Given the description of an element on the screen output the (x, y) to click on. 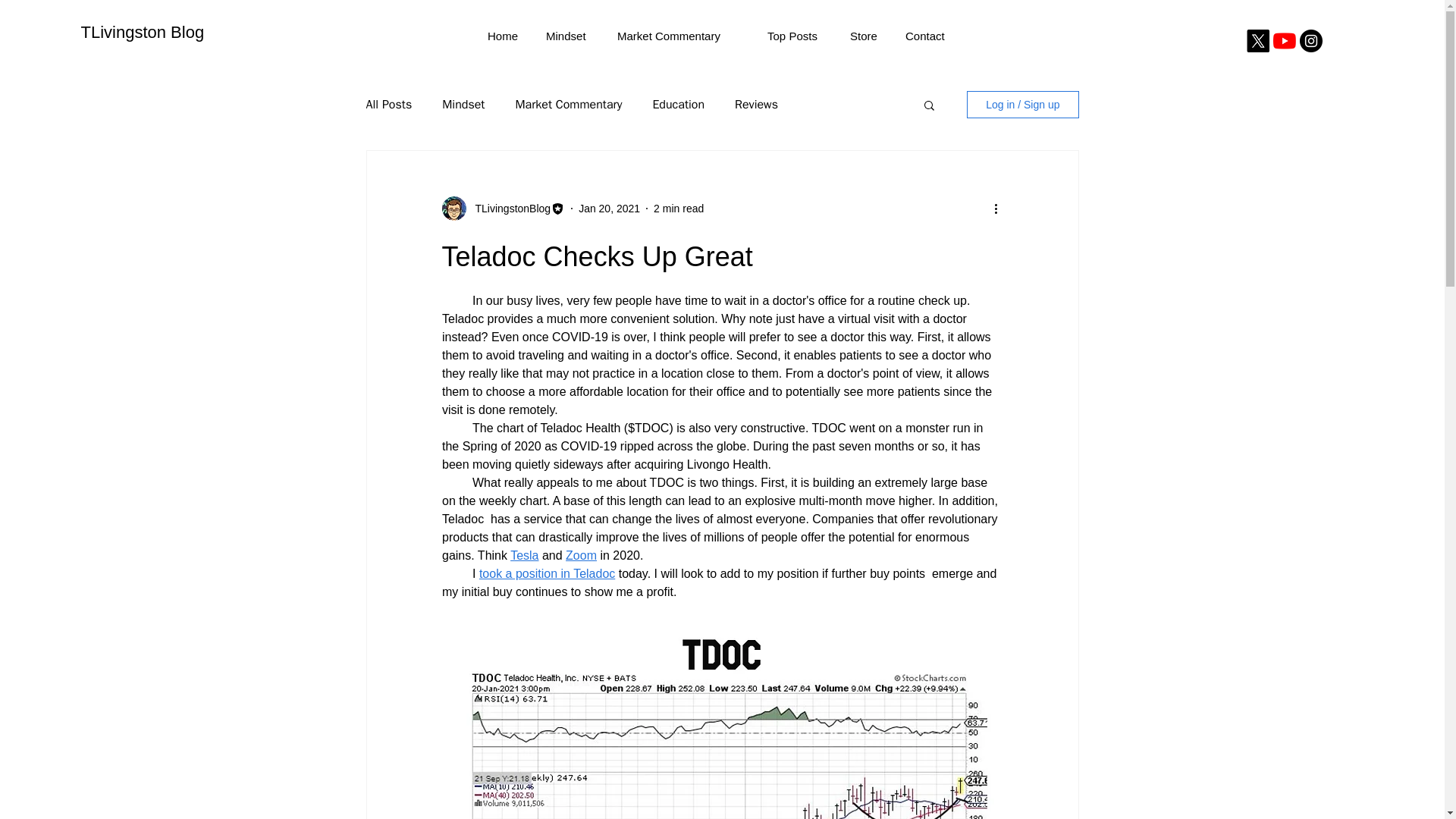
2 min read (678, 207)
All Posts (388, 105)
Mindset (569, 35)
TLivingstonBlog (507, 207)
TLivingston Blog (141, 31)
Market Commentary (680, 35)
Education (678, 105)
took a position in Teladoc (546, 573)
Home (505, 35)
Jan 20, 2021 (609, 207)
